Given the description of an element on the screen output the (x, y) to click on. 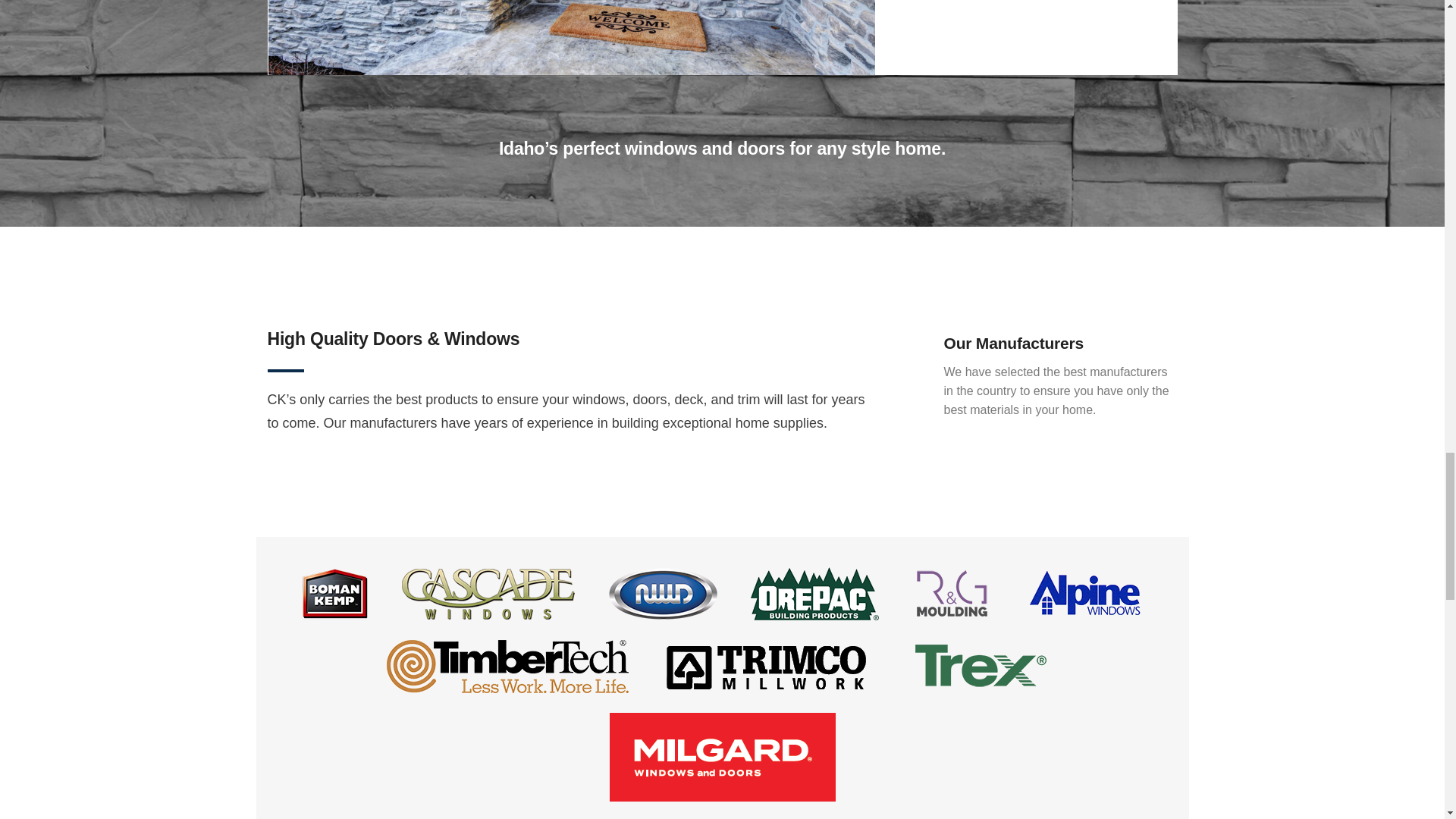
nwd (662, 593)
cascade-logo (488, 593)
alpine-logo (1084, 593)
Front Covered Porch Design With Stone Columns (571, 37)
orepac (815, 593)
rg (951, 593)
boman-kemp (334, 593)
